Given the description of an element on the screen output the (x, y) to click on. 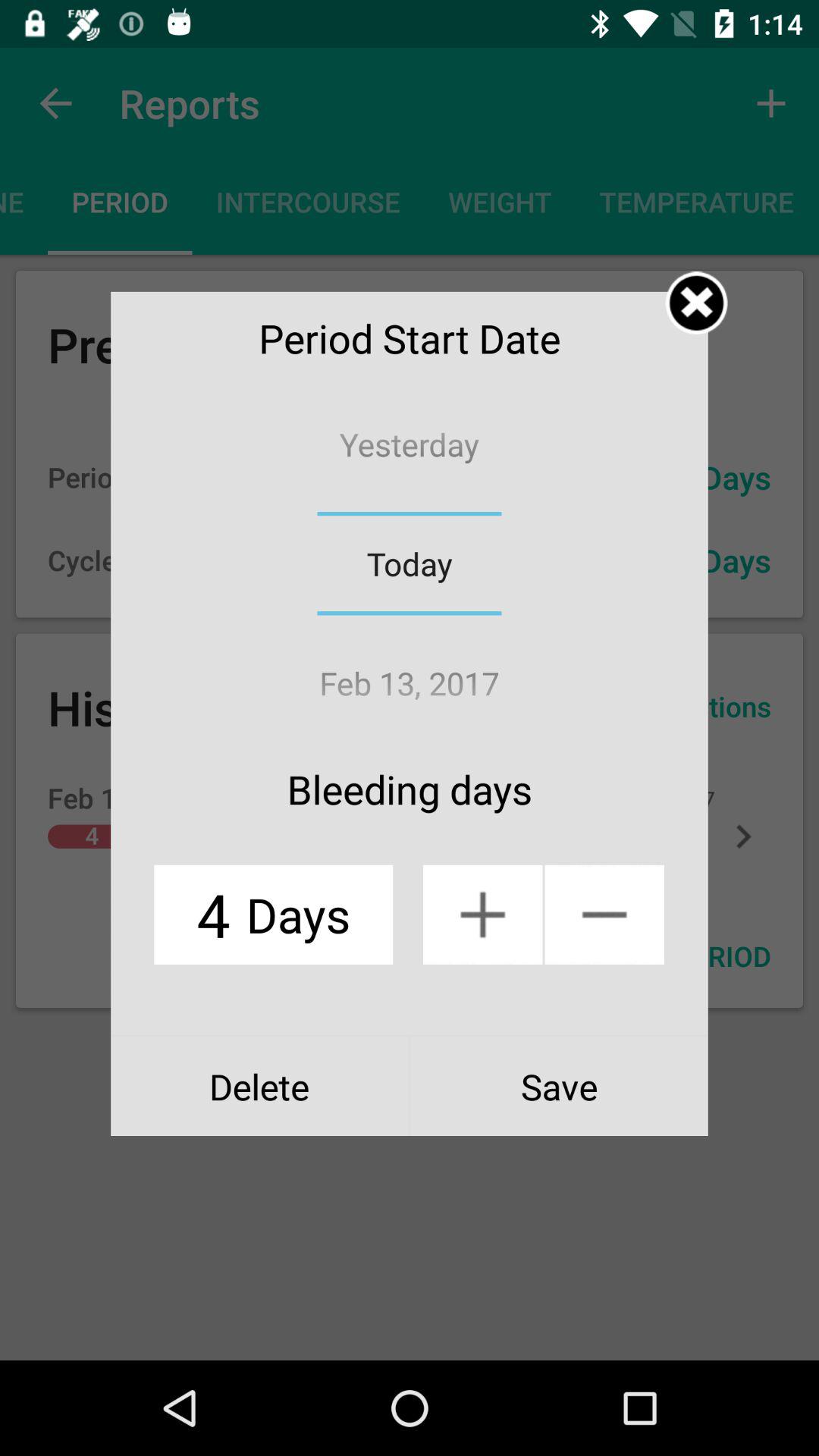
reduce number of days (604, 914)
